Given the description of an element on the screen output the (x, y) to click on. 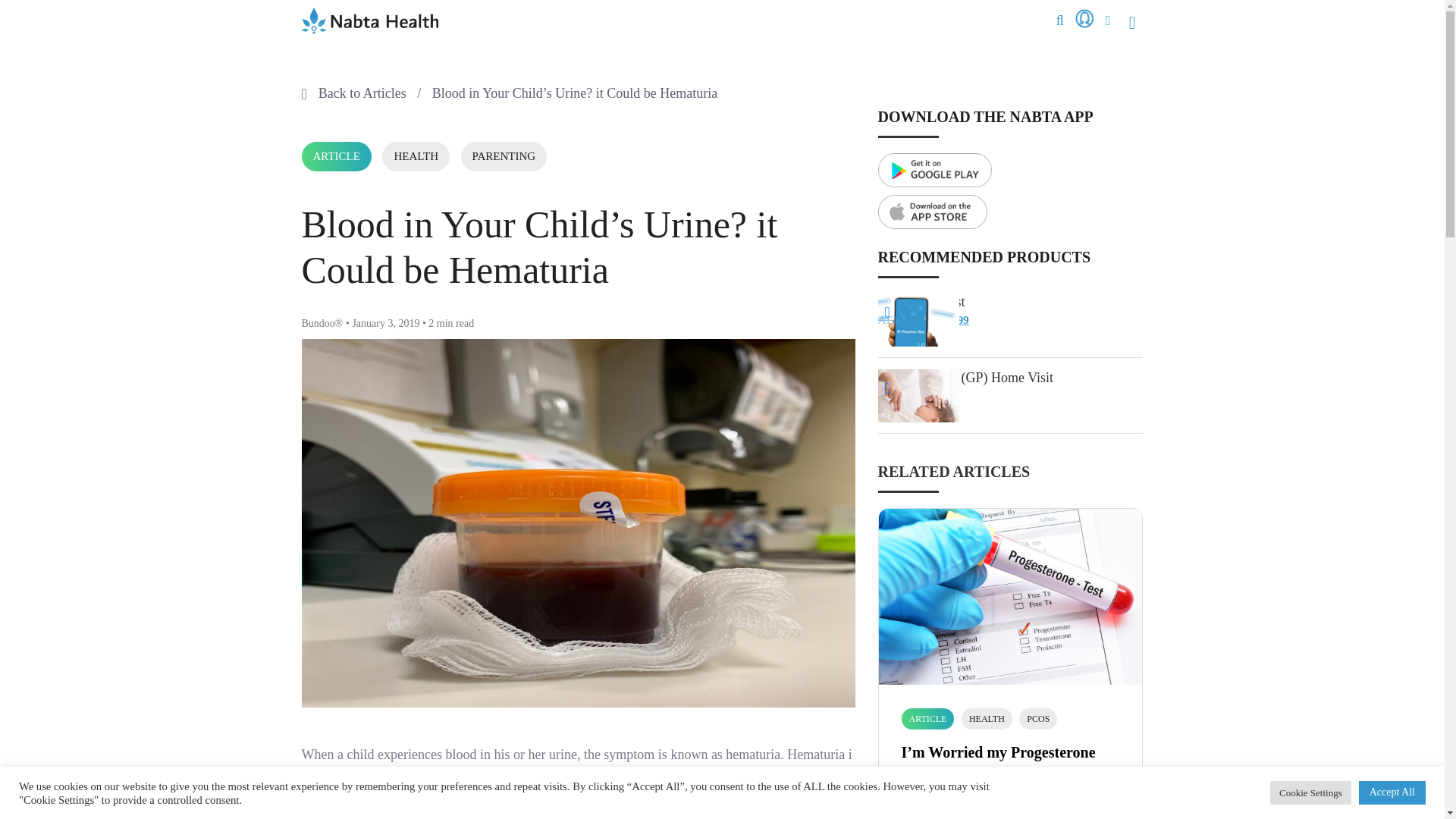
Search (1122, 52)
